Given the description of an element on the screen output the (x, y) to click on. 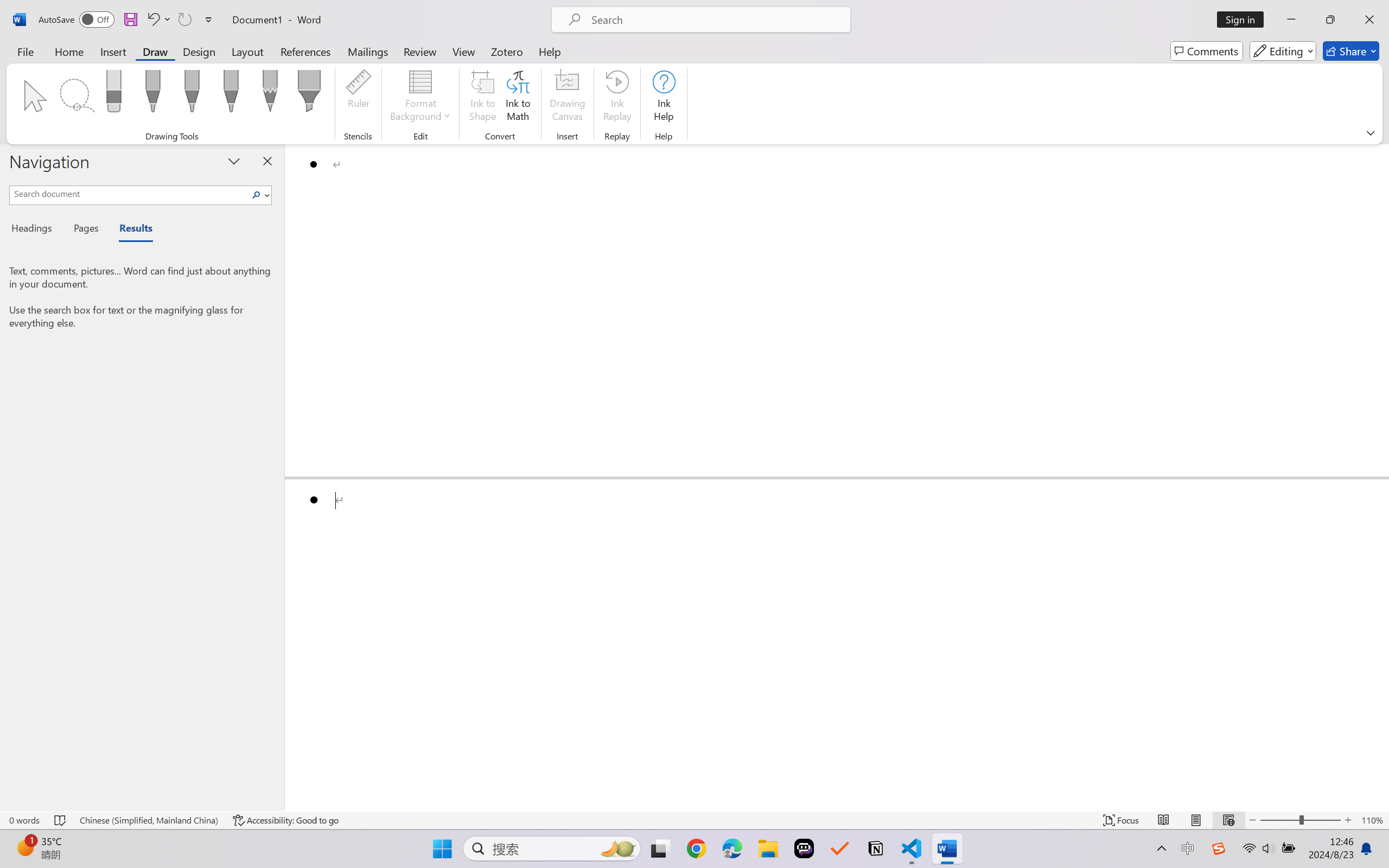
Ink to Math (517, 97)
Ink Replay (617, 97)
Pen: Galaxy, 1 mm (230, 94)
Headings (35, 229)
Pencil: Gray, 1 mm (270, 94)
